Given the description of an element on the screen output the (x, y) to click on. 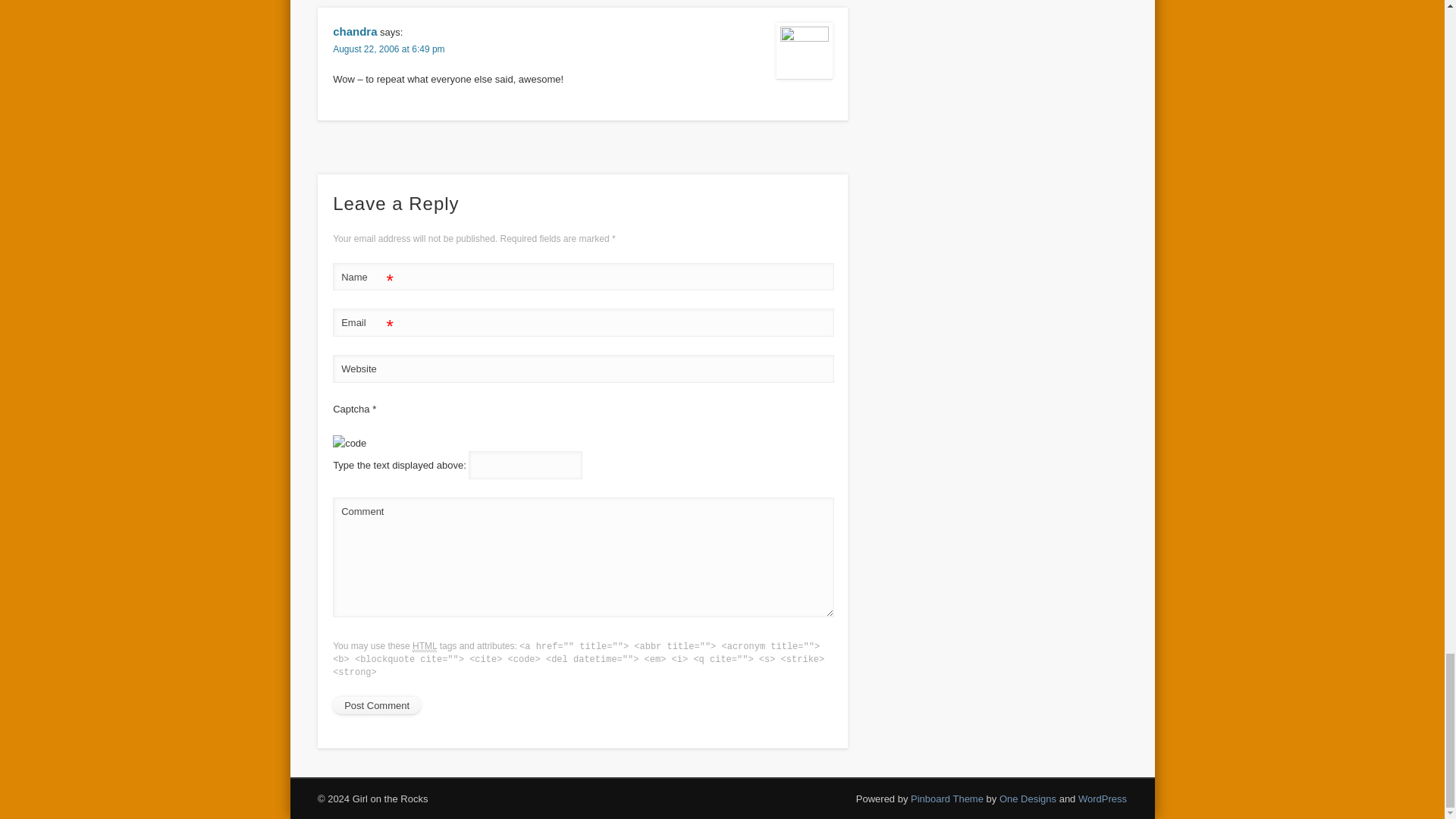
Pinboard Theme (947, 798)
HyperText Markup Language (424, 645)
Post Comment (376, 705)
